Given the description of an element on the screen output the (x, y) to click on. 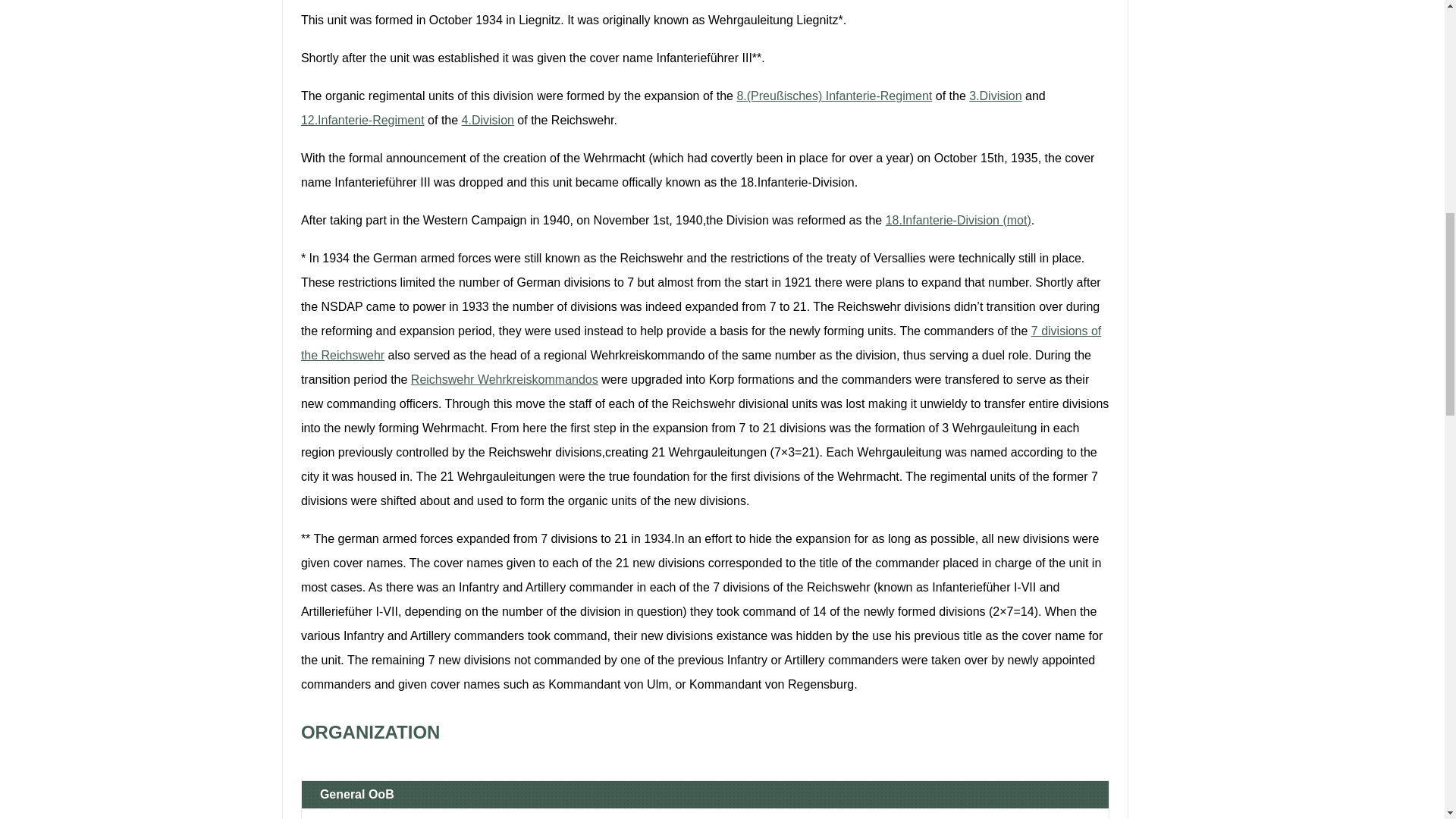
3.Division (995, 95)
Reichswehr Wehrkreiskommandos (504, 379)
4.Division (487, 119)
12.Infanterie-Regiment (363, 119)
7 divisions of the Reichswehr (700, 342)
